Given the description of an element on the screen output the (x, y) to click on. 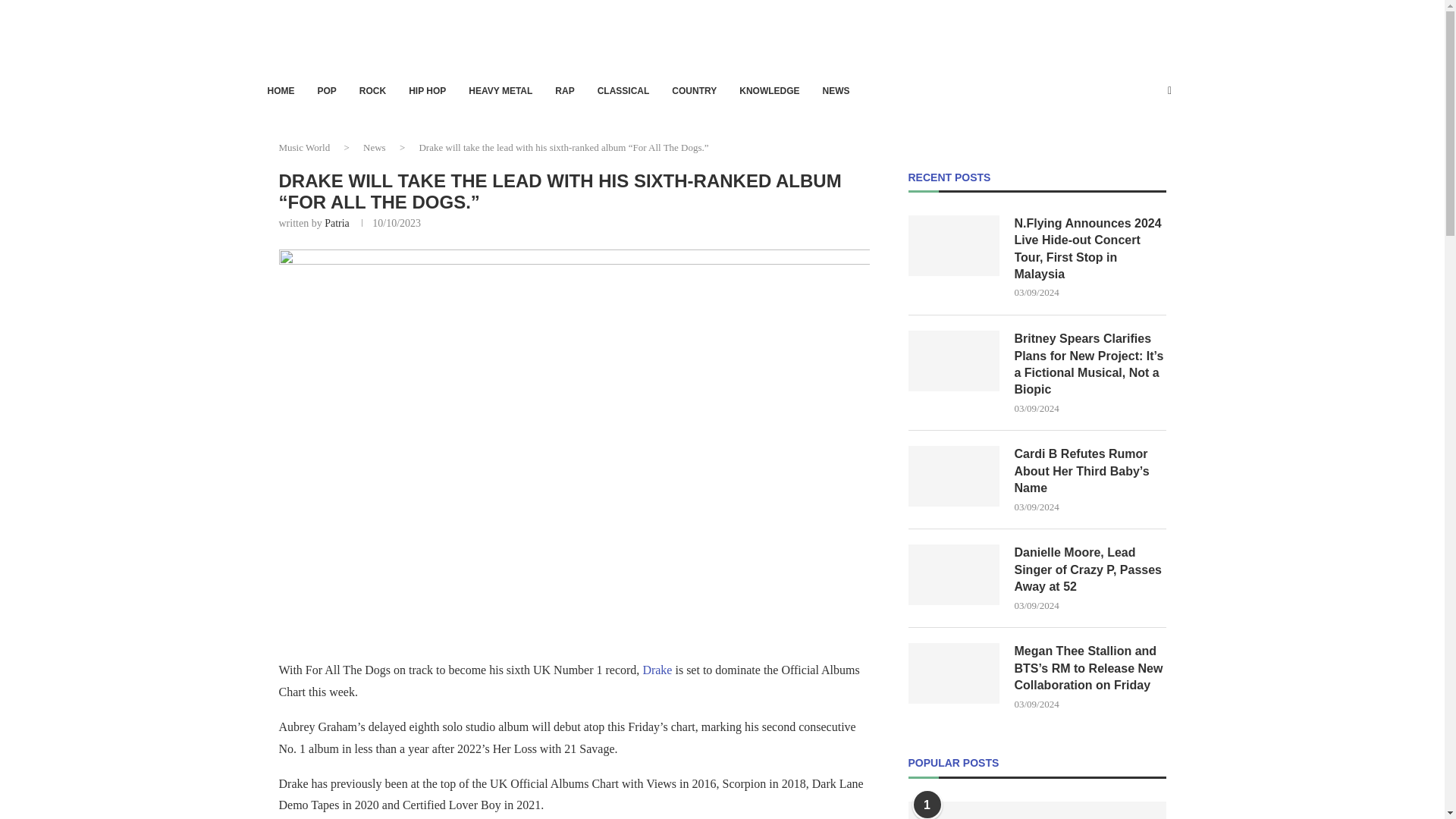
COUNTRY (693, 90)
HEAVY METAL (500, 90)
KNOWLEDGE (769, 90)
CLASSICAL (622, 90)
